Given the description of an element on the screen output the (x, y) to click on. 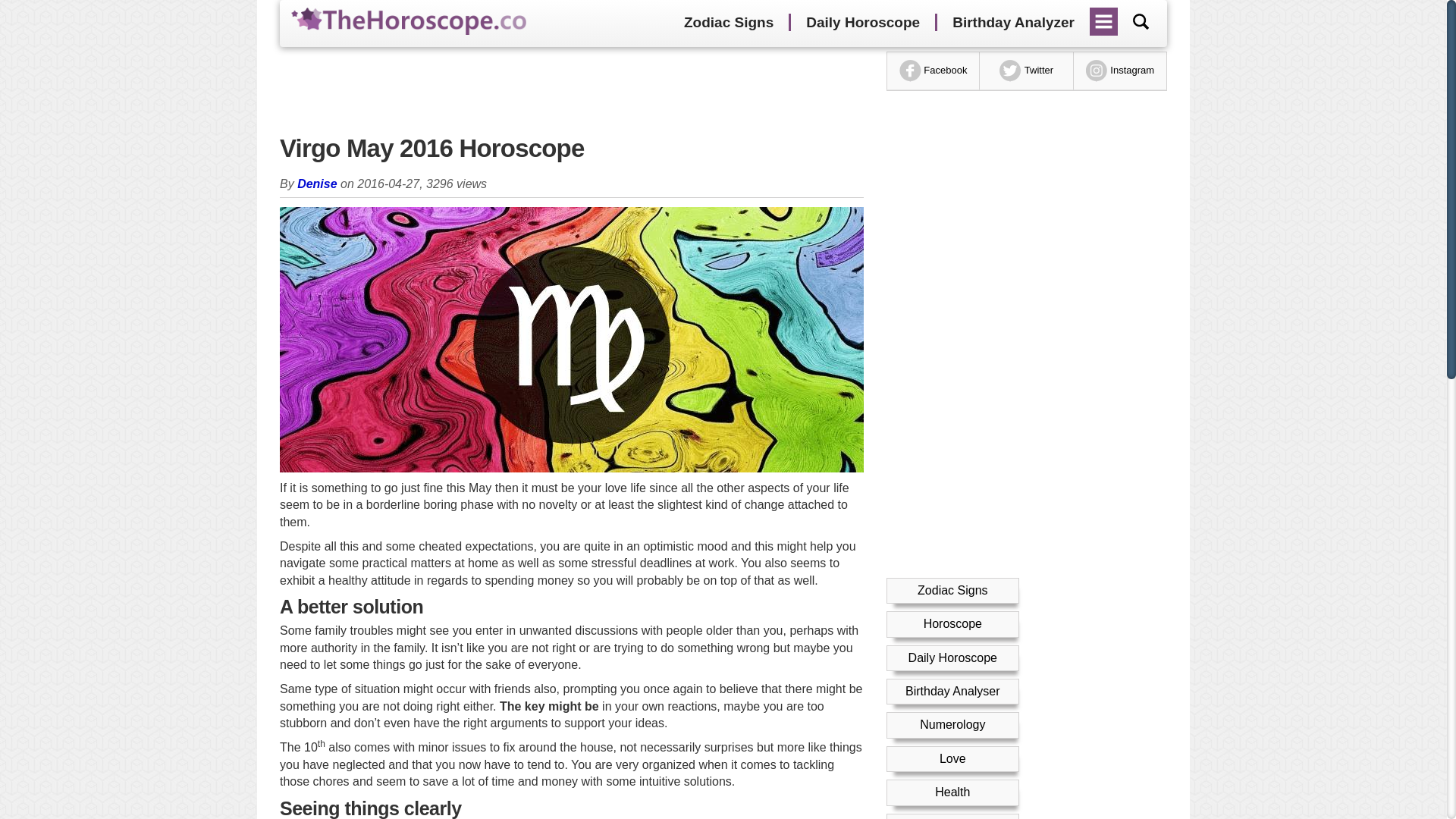
Zodiac Signs (728, 22)
Birthday Analyzer (1013, 22)
Love (952, 758)
Numerology (952, 724)
Zodiac Signs (952, 590)
Search by your birthday... (1140, 21)
Birthday Analyser (952, 690)
Daily Horoscope (952, 657)
Health (952, 791)
Menu (1104, 16)
Advertisement (571, 88)
Daily Horoscope (862, 22)
Horoscope (952, 623)
